Given the description of an element on the screen output the (x, y) to click on. 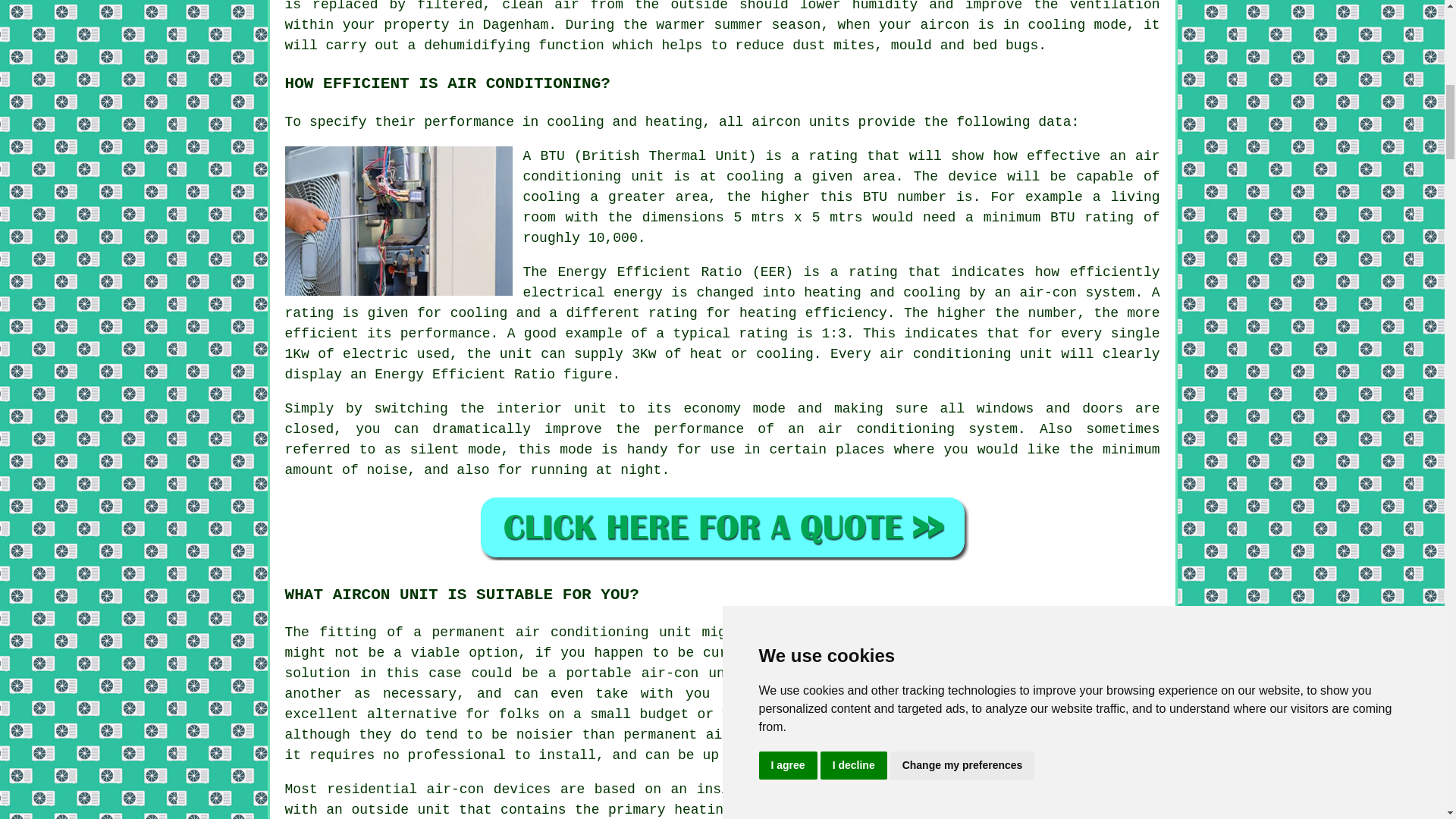
heating and cooling (752, 809)
Air Conditioning Near Dagenham Essex (1046, 799)
dehumidifying function (513, 45)
Air Conditioning Quotes in Dagenham Essex (722, 527)
air conditioning (581, 631)
